Given the description of an element on the screen output the (x, y) to click on. 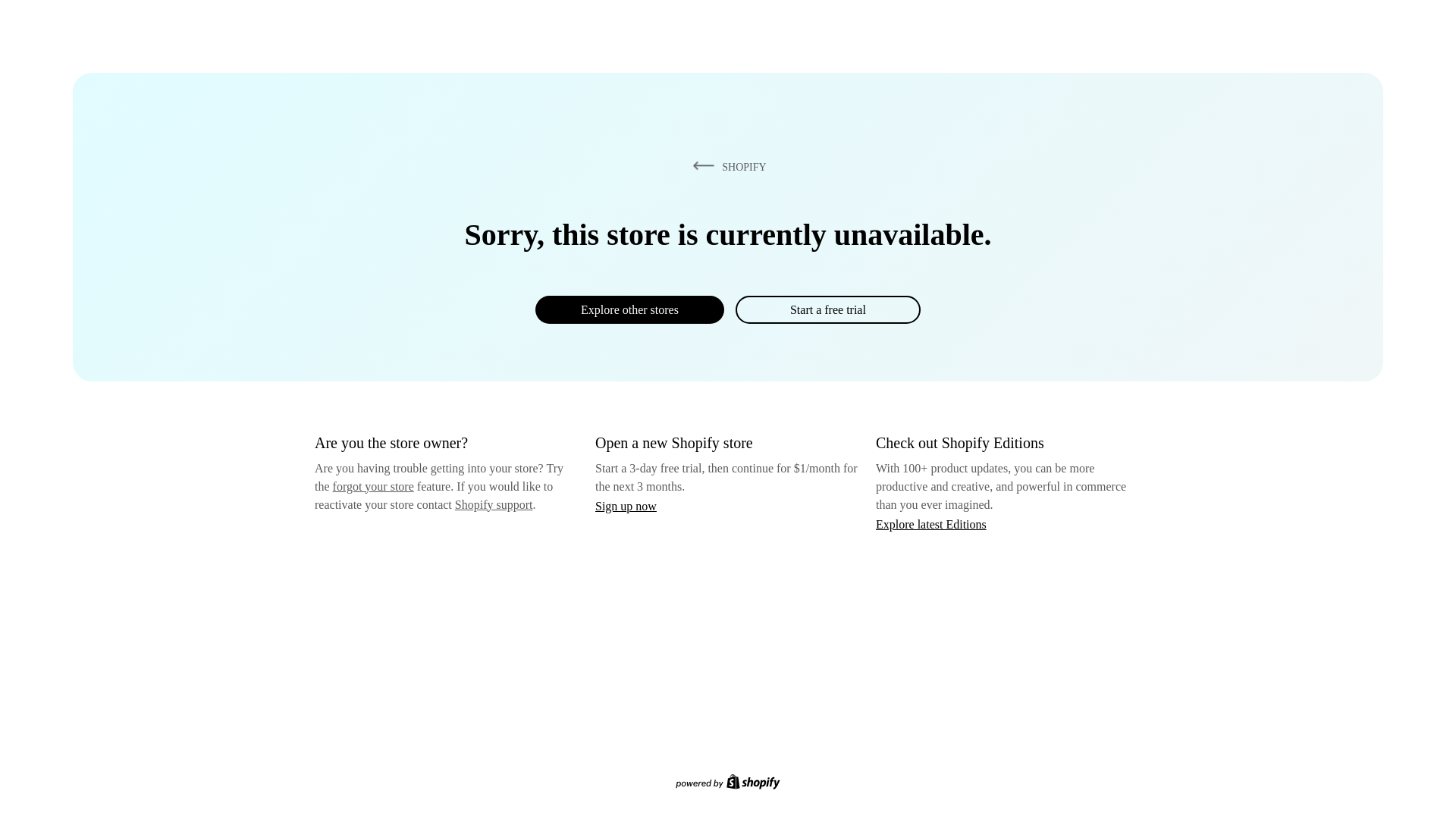
Sign up now (625, 505)
Explore latest Editions (931, 523)
forgot your store (373, 486)
Start a free trial (827, 309)
SHOPIFY (726, 166)
Explore other stores (629, 309)
Shopify support (493, 504)
